Given the description of an element on the screen output the (x, y) to click on. 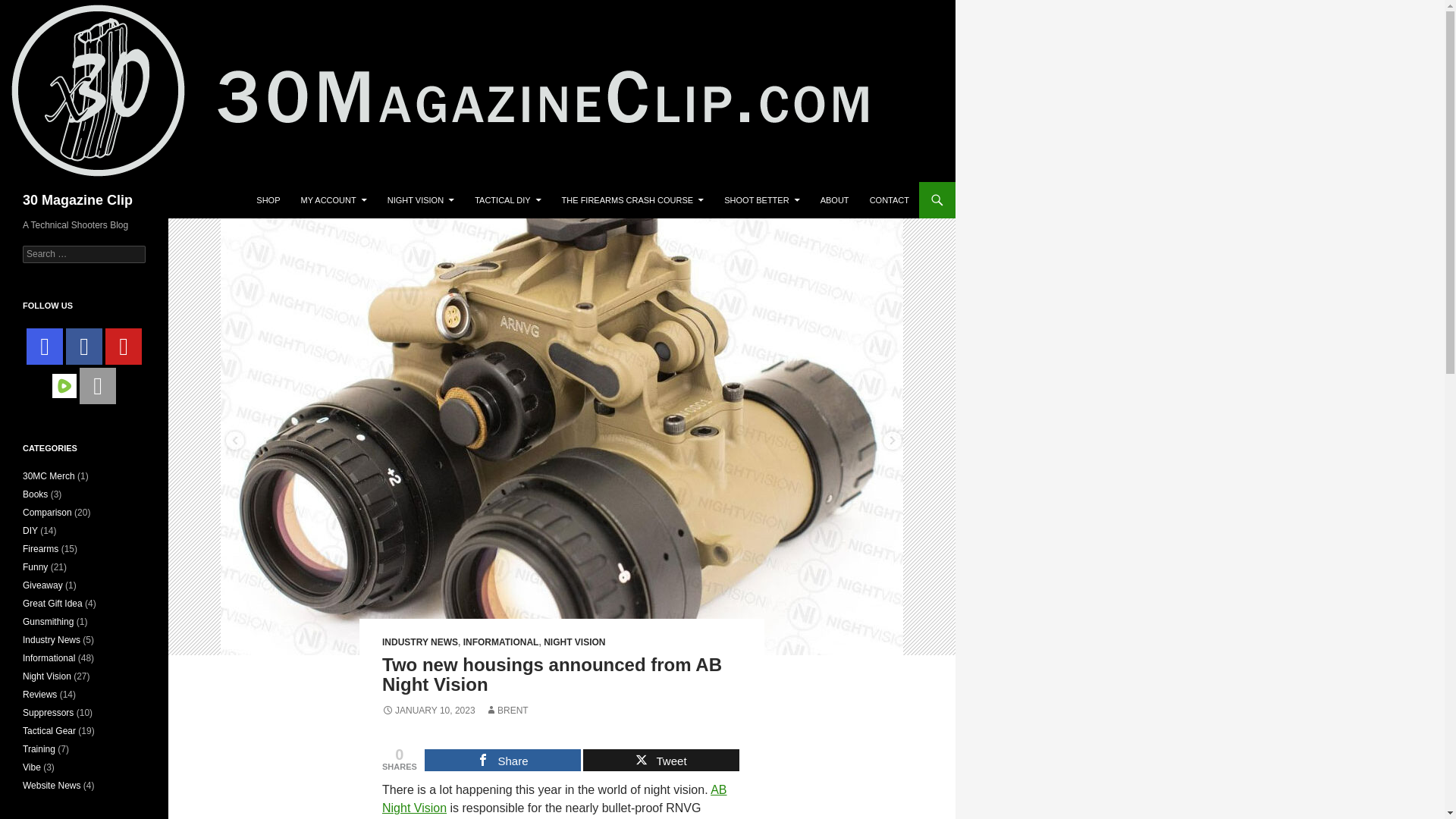
JANUARY 10, 2023 (428, 710)
INDUSTRY NEWS (419, 642)
NIGHT VISION (420, 199)
rumble (64, 385)
rumble (64, 385)
TACTICAL DIY (507, 199)
reddit (98, 385)
BRENT (506, 710)
youtube (122, 346)
